Given the description of an element on the screen output the (x, y) to click on. 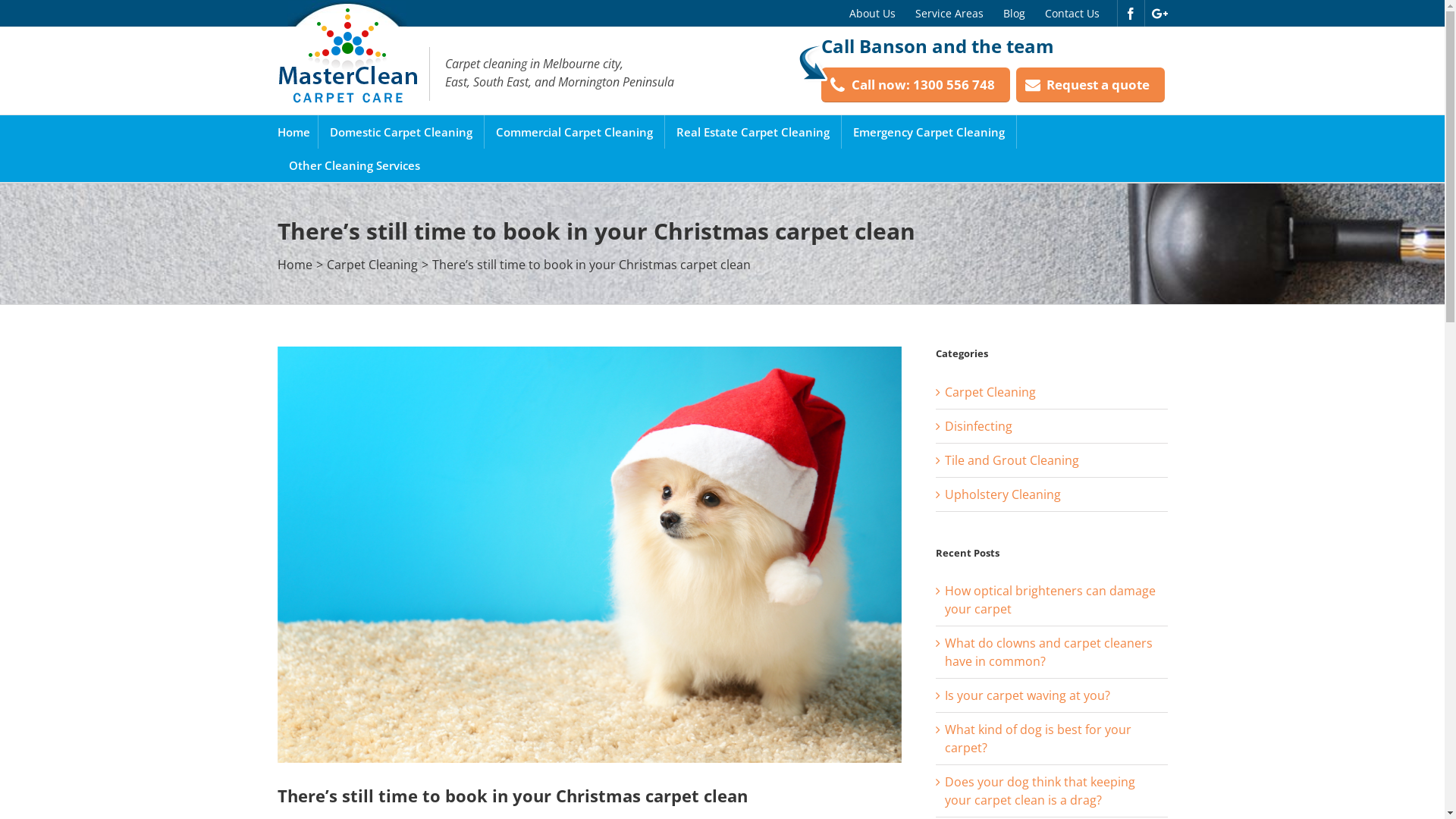
Carpet Cleaning Element type: text (1051, 391)
Upholstery Cleaning Element type: text (1051, 494)
Carpet Cleaning Element type: text (371, 264)
Blog Element type: text (1014, 13)
Other Cleaning Services Element type: text (353, 165)
Disinfecting Element type: text (1051, 426)
Tile and Grout Cleaning Element type: text (1051, 459)
Real Estate Carpet Cleaning Element type: text (752, 131)
About Us Element type: text (871, 13)
Home Element type: text (294, 264)
How optical brighteners can damage your carpet Element type: text (1049, 599)
Googleplus Element type: text (1158, 13)
Call now: 1300 556 748 Element type: text (914, 85)
View Larger Image Element type: text (589, 554)
Is your carpet waving at you? Element type: text (1027, 695)
Commercial Carpet Cleaning Element type: text (573, 131)
Request a quote Element type: text (1090, 85)
Emergency Carpet Cleaning Element type: text (928, 131)
Contact Us Element type: text (1071, 13)
What kind of dog is best for your carpet? Element type: text (1037, 738)
Facebook Element type: text (1129, 13)
Home Element type: text (293, 131)
What do clowns and carpet cleaners have in common? Element type: text (1048, 651)
Domestic Carpet Cleaning Element type: text (400, 131)
Service Areas Element type: text (949, 13)
